Given the description of an element on the screen output the (x, y) to click on. 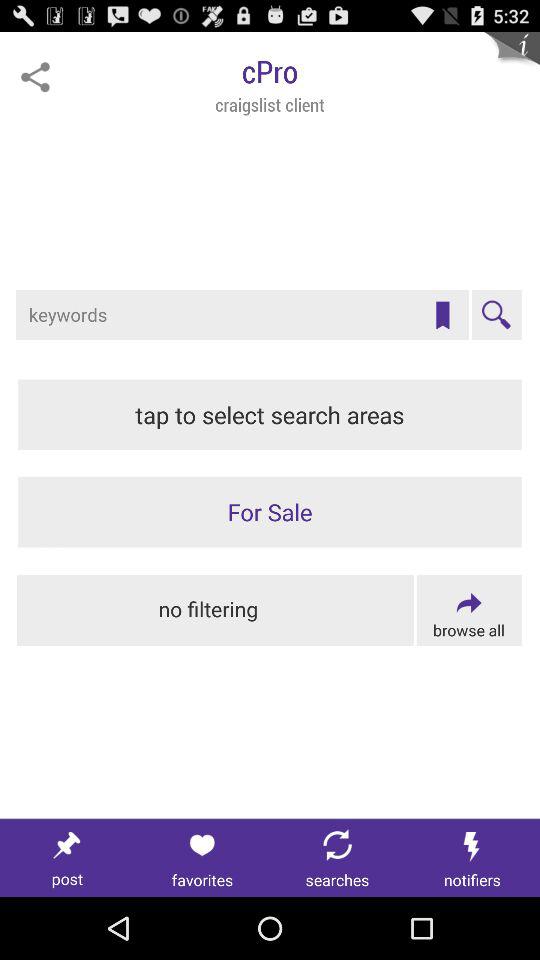
refresh search (337, 858)
